Given the description of an element on the screen output the (x, y) to click on. 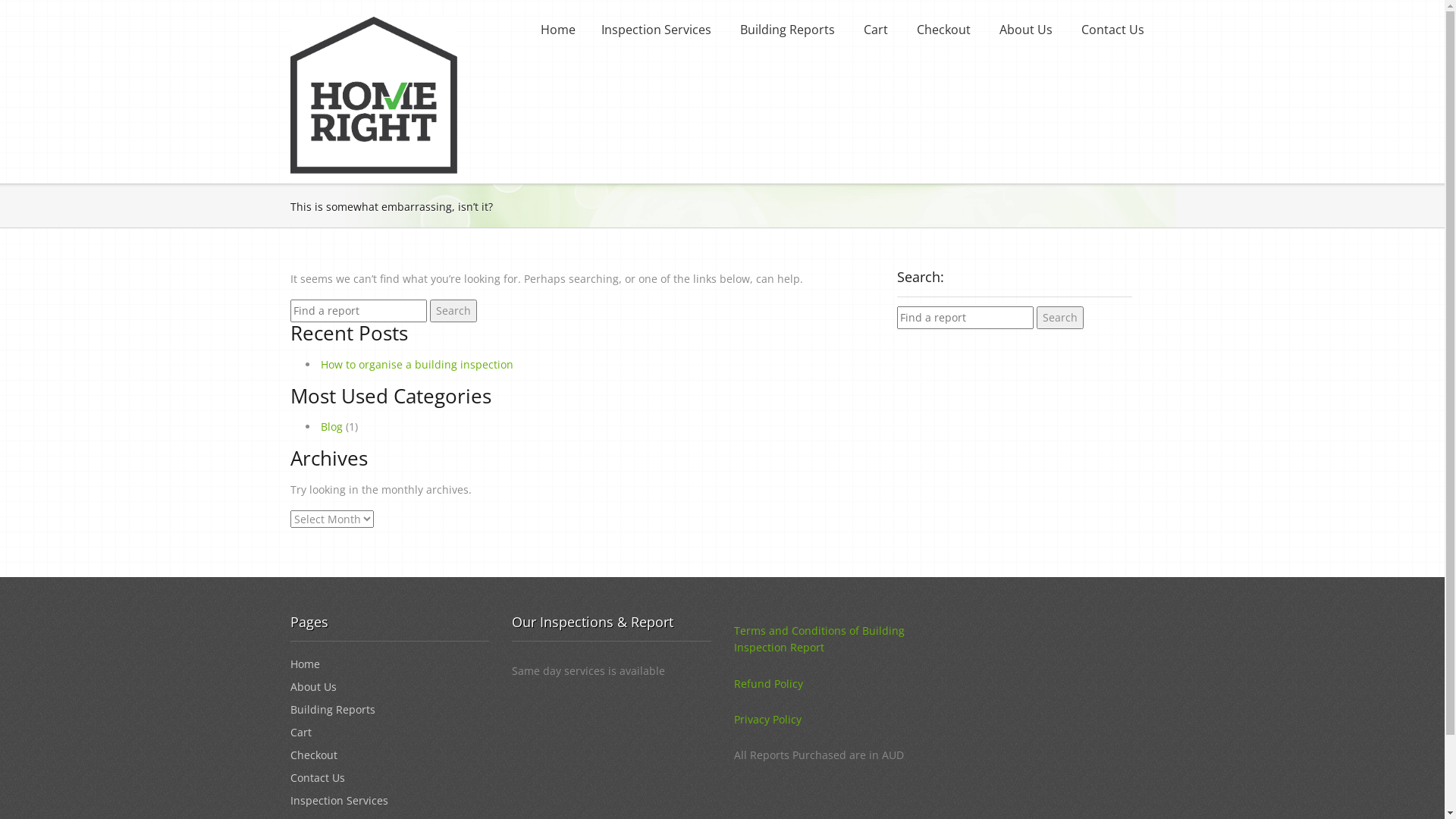
Search Element type: text (452, 310)
Home Element type: text (556, 30)
Inspection Services Element type: text (338, 800)
Building Reports Element type: text (786, 30)
Blog Element type: text (331, 426)
Contact Us Element type: text (316, 777)
Checkout Element type: text (941, 30)
Home Element type: text (304, 663)
How to organise a building inspection Element type: text (416, 364)
Search Element type: text (1058, 317)
Privacy Policy Element type: text (767, 719)
Checkout Element type: text (312, 754)
Contact Us Element type: text (1111, 30)
About Us Element type: text (312, 686)
Inspection Services Element type: text (654, 30)
Terms and Conditions of Building Inspection Report Element type: text (819, 638)
Cart Element type: text (873, 30)
Building Reports Element type: text (331, 709)
About Us Element type: text (1025, 30)
Refund Policy Element type: text (768, 683)
Cart Element type: text (299, 731)
